Given the description of an element on the screen output the (x, y) to click on. 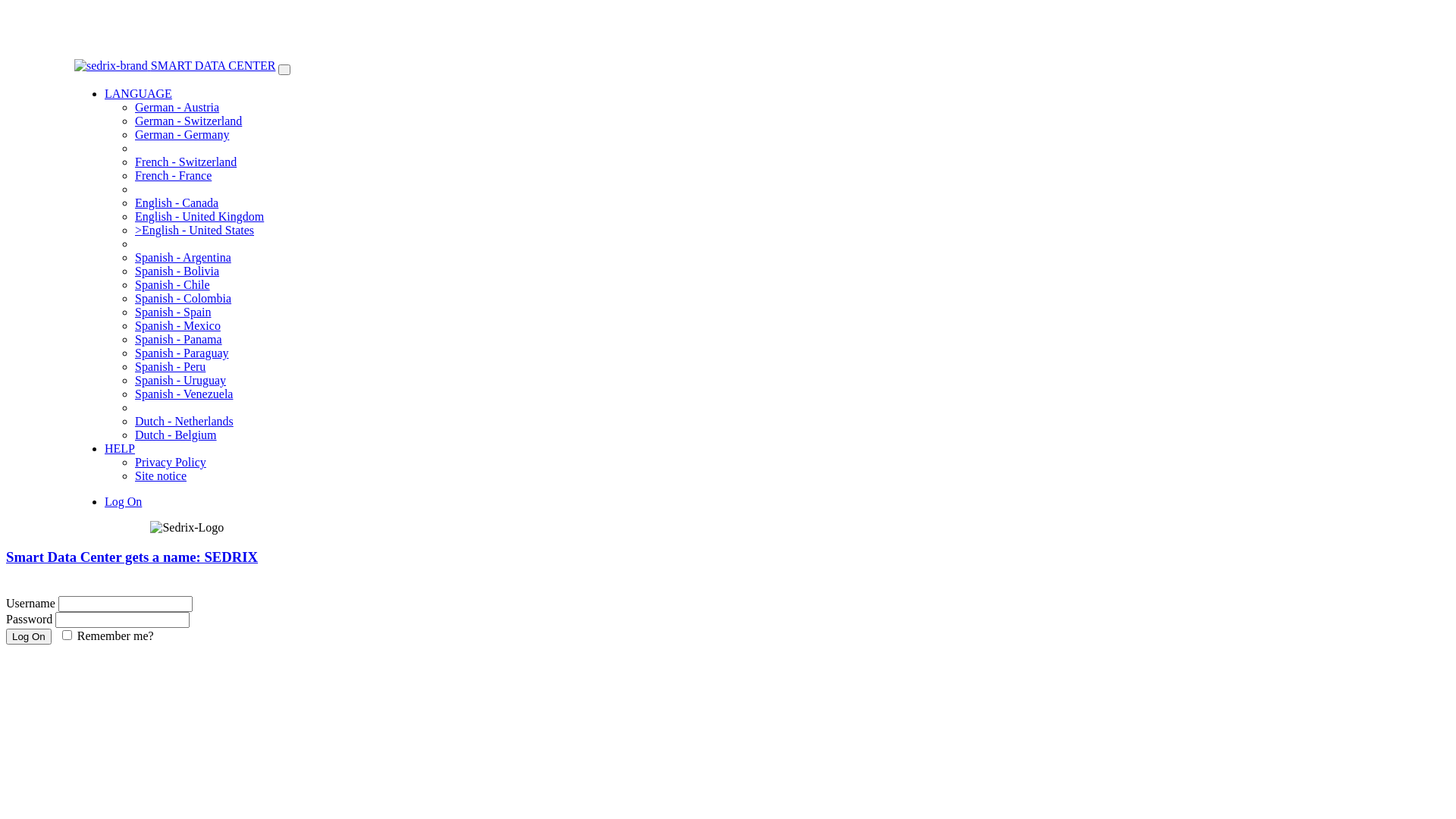
French - France Element type: text (172, 175)
Log On Element type: text (122, 501)
HELP Element type: text (119, 448)
Spanish - Venezuela Element type: text (183, 393)
Spanish - Argentina Element type: text (182, 257)
Spanish - Mexico Element type: text (177, 325)
English - Canada Element type: text (176, 202)
Spanish - Bolivia Element type: text (176, 270)
Dutch - Netherlands Element type: text (183, 420)
German - Germany Element type: text (181, 134)
LANGUAGE Element type: text (138, 93)
French - Switzerland Element type: text (185, 161)
Spanish - Spain Element type: text (172, 311)
SMART DATA CENTER Element type: text (213, 65)
>English - United States Element type: text (194, 229)
Spanish - Paraguay Element type: text (181, 352)
Dutch - Belgium Element type: text (175, 434)
Privacy Policy Element type: text (170, 461)
German - Austria Element type: text (176, 106)
Spanish - Uruguay Element type: text (179, 379)
English - United Kingdom Element type: text (198, 216)
Spanish - Colombia Element type: text (182, 297)
Spanish - Chile Element type: text (172, 284)
Log On Element type: text (28, 636)
Spanish - Peru Element type: text (169, 366)
Smart Data Center gets a name: SEDRIX Element type: text (131, 556)
Spanish - Panama Element type: text (178, 338)
Site notice Element type: text (160, 475)
German - Switzerland Element type: text (187, 120)
